Given the description of an element on the screen output the (x, y) to click on. 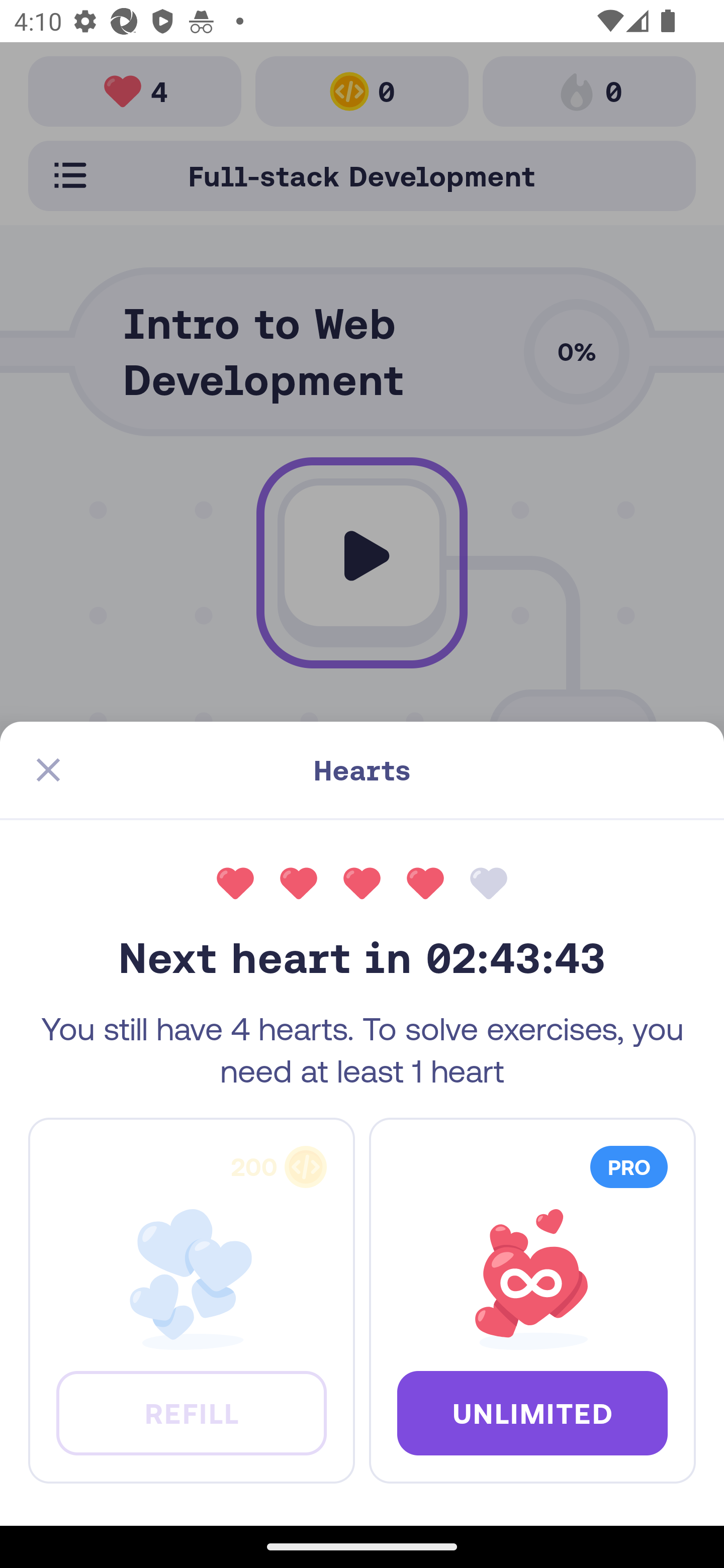
Close (47, 769)
REFILL (191, 1412)
UNLIMITED (532, 1412)
